Given the description of an element on the screen output the (x, y) to click on. 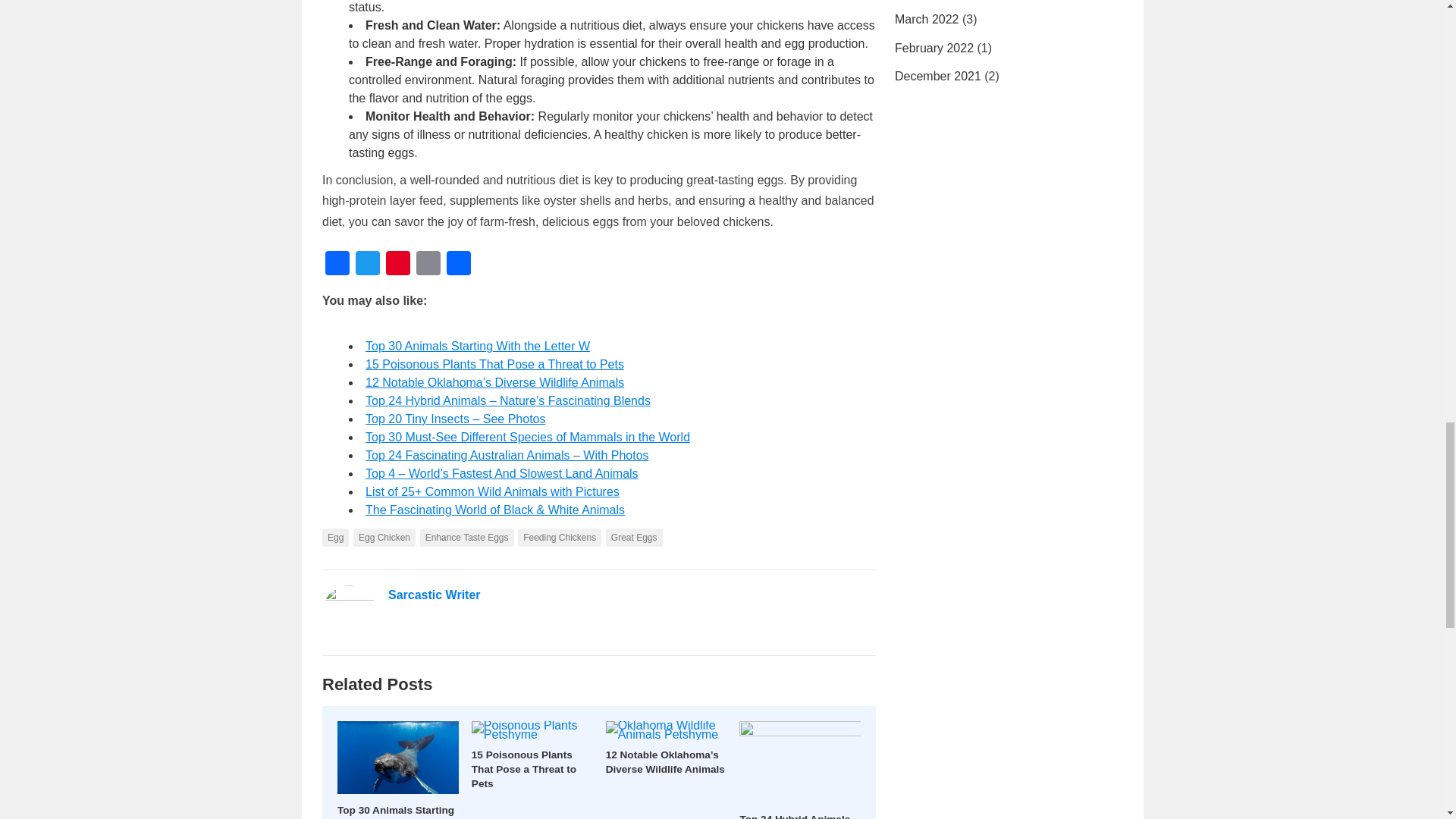
Facebook (336, 264)
Twitter (367, 264)
Pinterest (397, 264)
Email (428, 264)
